Given the description of an element on the screen output the (x, y) to click on. 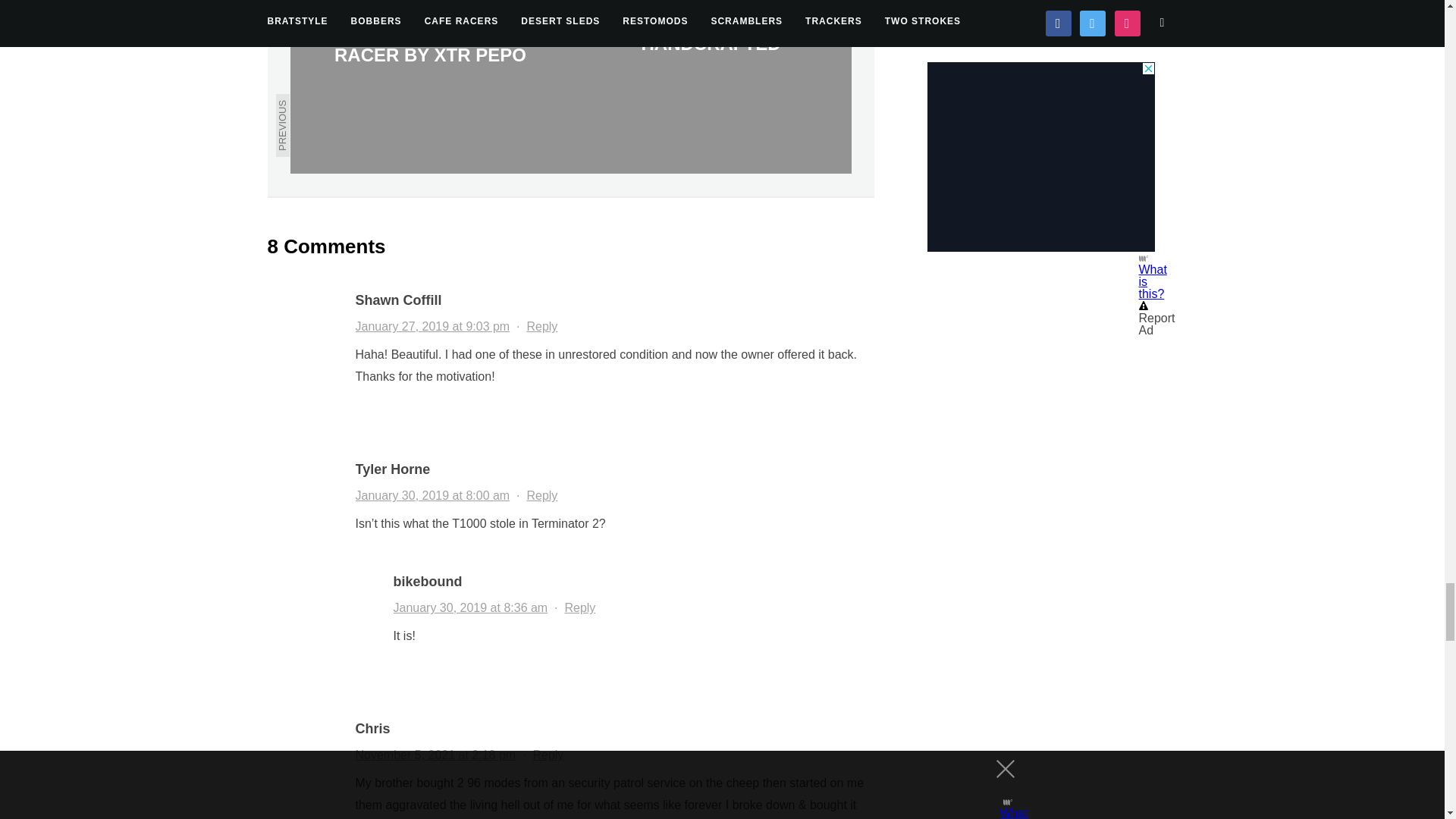
Feature Film: HANDCRAFTED (710, 86)
